Given the description of an element on the screen output the (x, y) to click on. 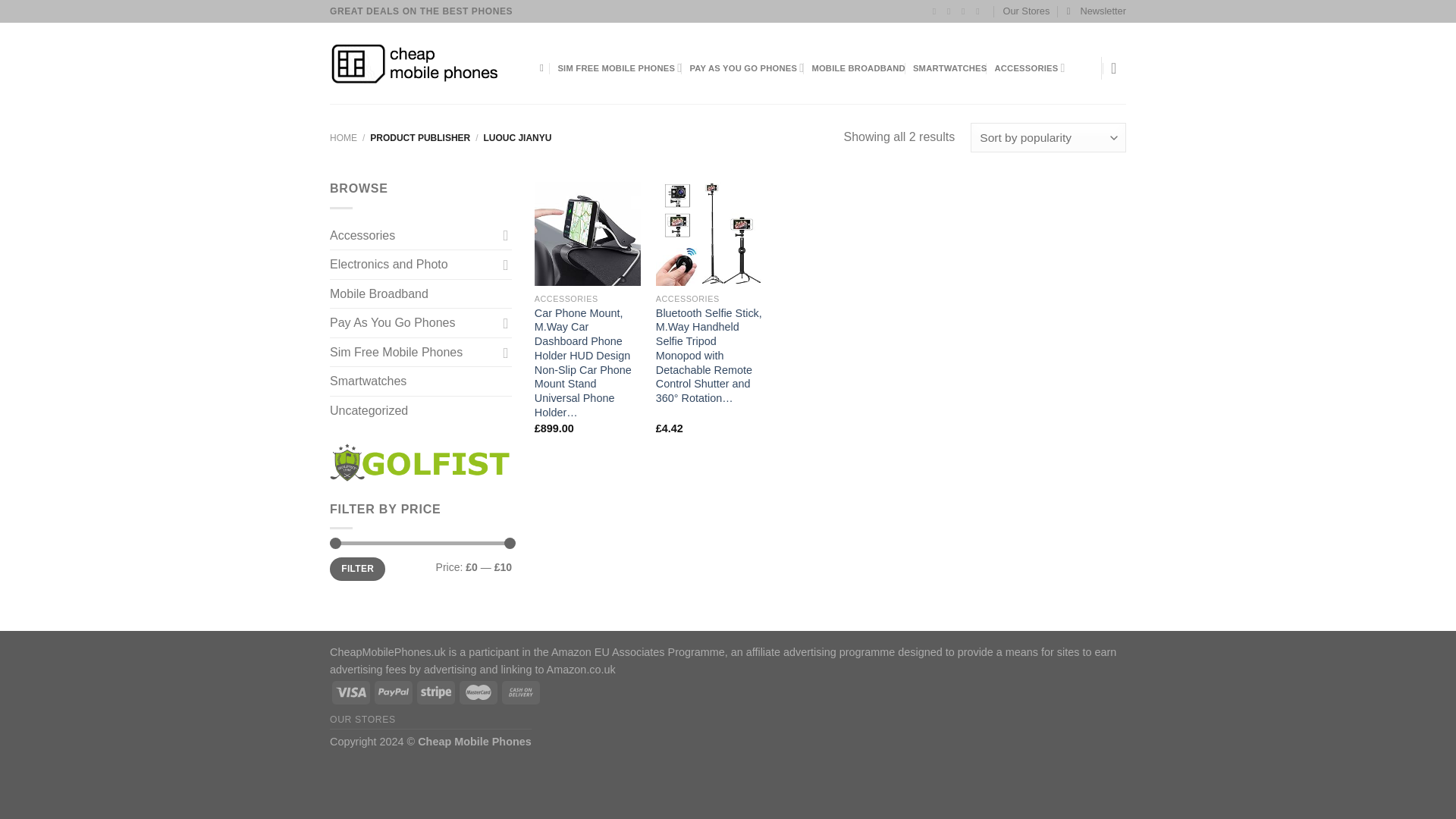
SIM FREE MOBILE PHONES (619, 68)
ACCESSORIES (1029, 68)
MOBILE BROADBAND (857, 68)
Newsletter (1096, 11)
SMARTWATCHES (949, 68)
Our Stores (1026, 11)
PAY AS YOU GO PHONES (745, 68)
My blog - Cheap Mobile Phones (423, 63)
Sign up for Newsletter (1096, 11)
